Given the description of an element on the screen output the (x, y) to click on. 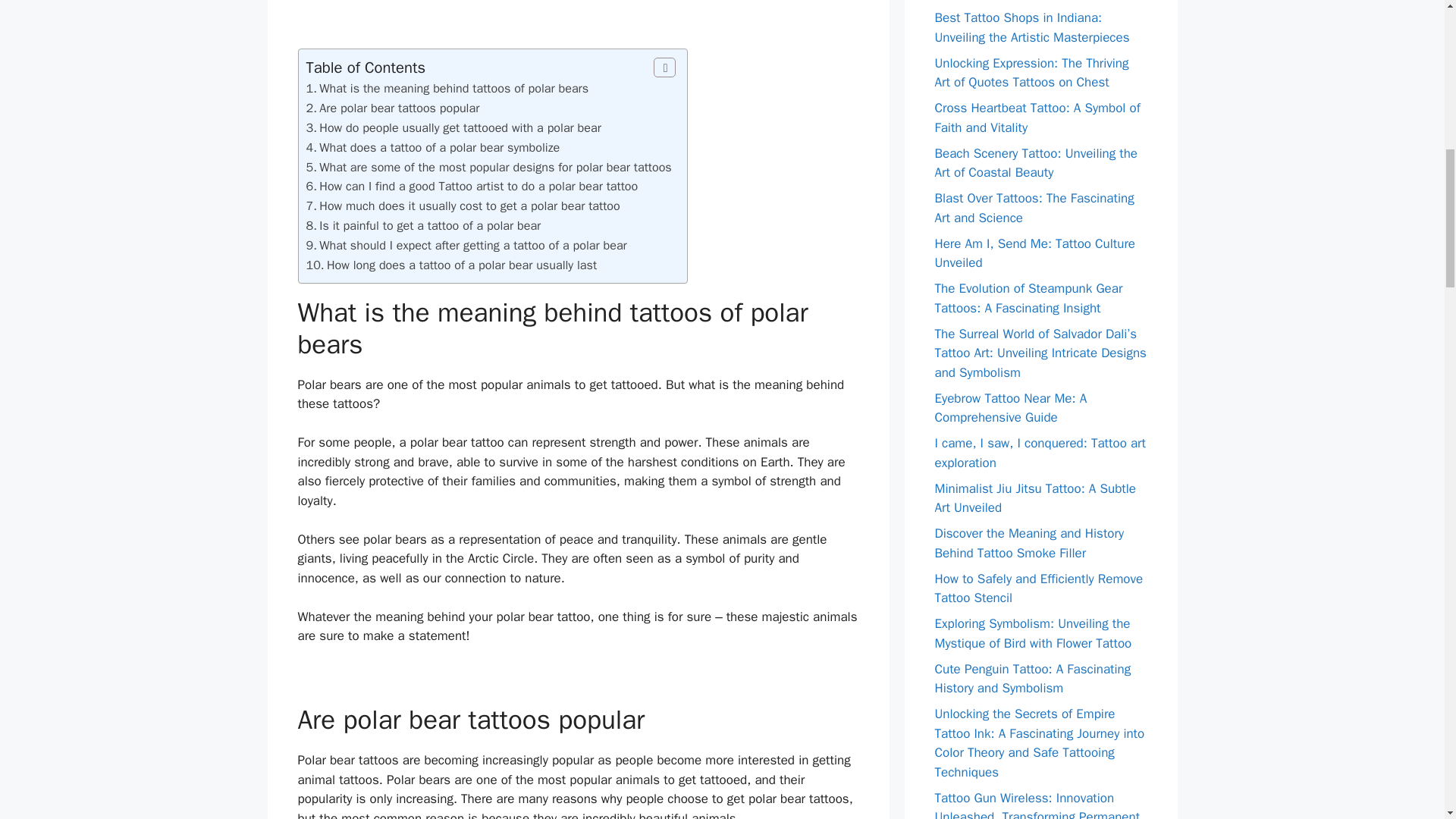
How long does a tattoo of a polar bear usually last (461, 264)
What is the meaning behind tattoos of polar bears (453, 88)
How much does it usually cost to get a polar bear tattoo (469, 205)
How do people usually get tattooed with a polar bear (459, 127)
How long does a tattoo of a polar bear usually last (461, 264)
What is the meaning behind tattoos of polar bears (453, 88)
What does a tattoo of a polar bear symbolize (438, 147)
How much does it usually cost to get a polar bear tattoo (469, 205)
